Given the description of an element on the screen output the (x, y) to click on. 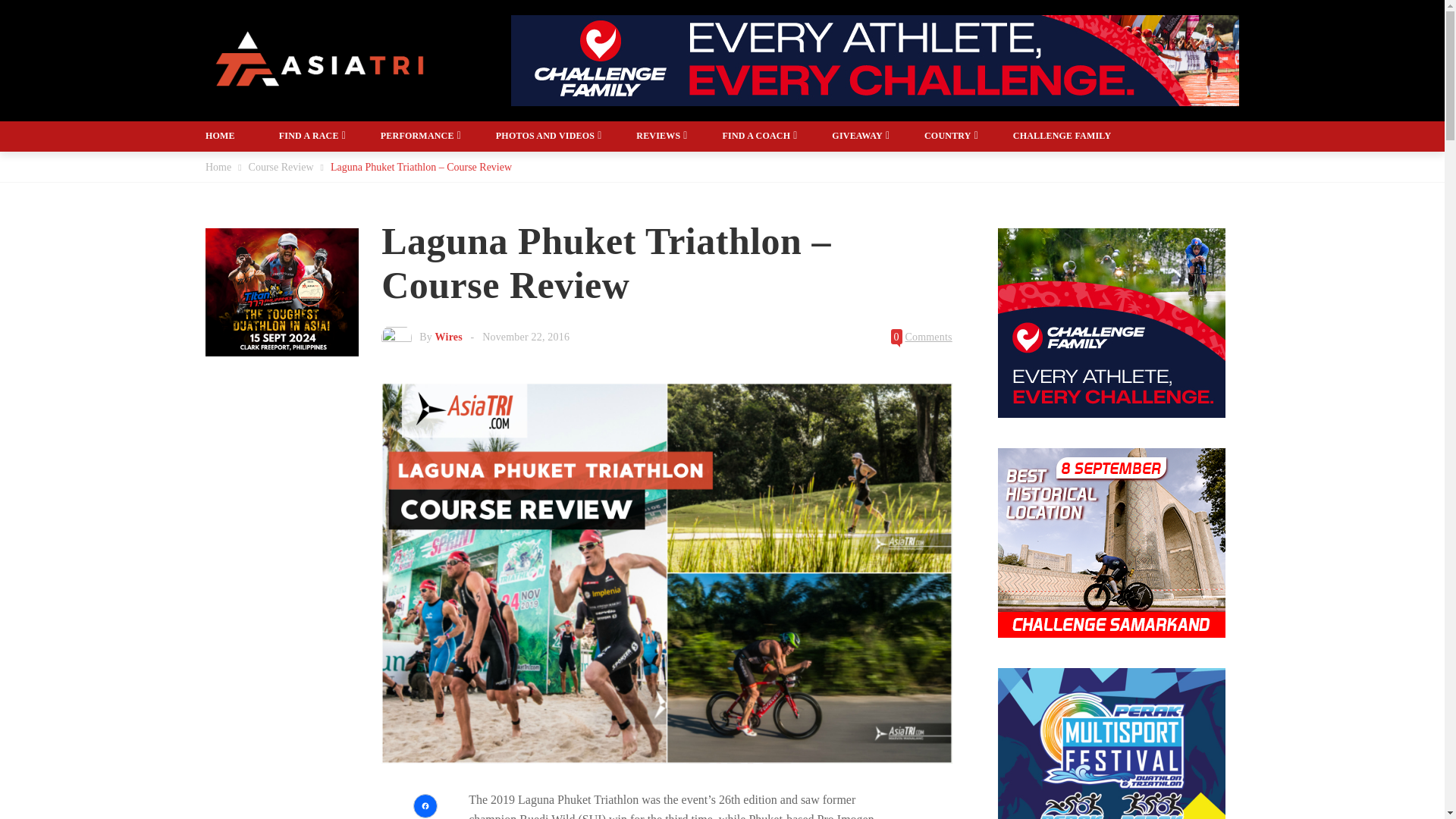
Facebook (425, 805)
Posts by Wires (449, 337)
Course Review (281, 166)
Home (218, 166)
